Given the description of an element on the screen output the (x, y) to click on. 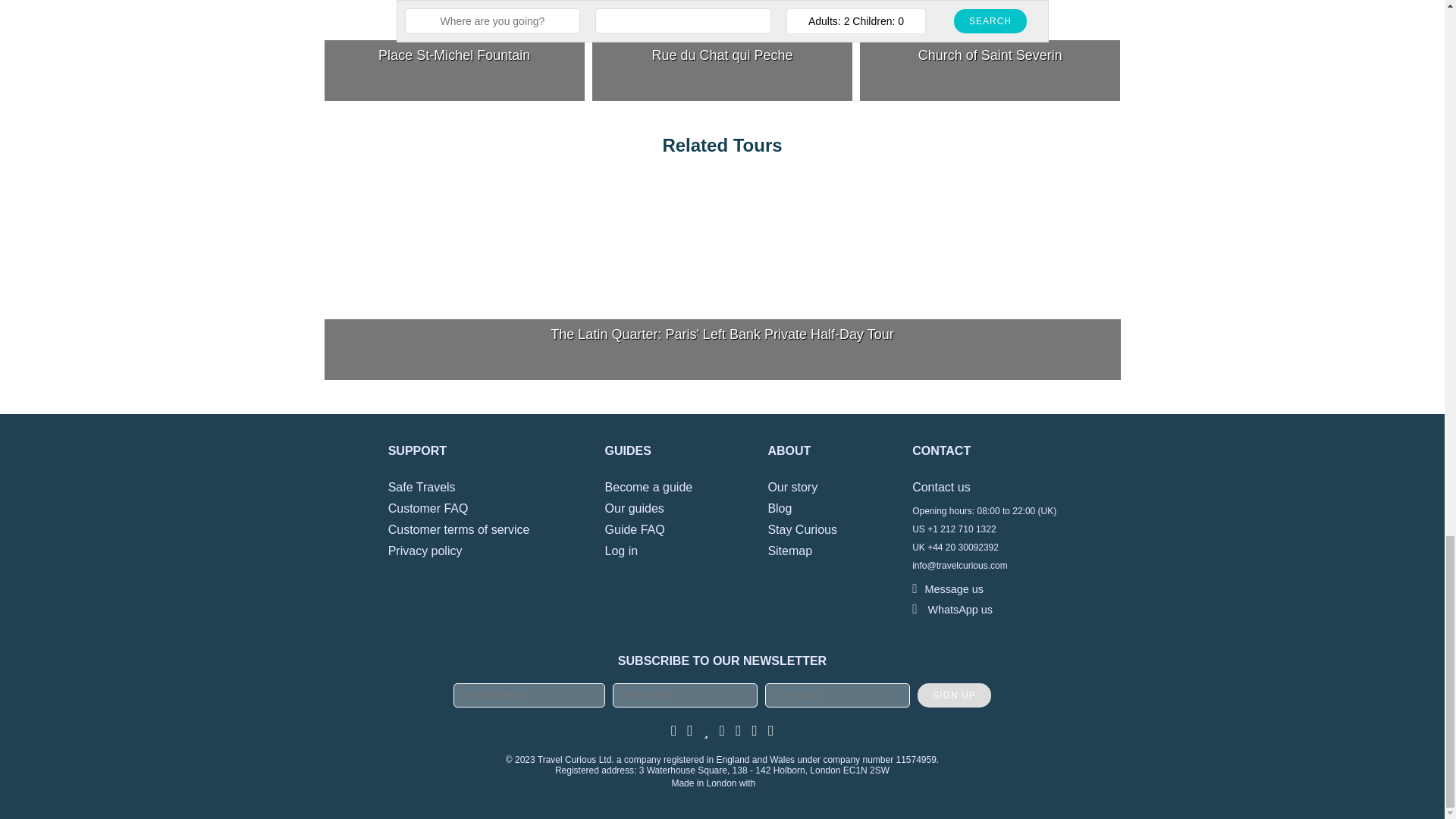
Our guides (634, 508)
Become a guide (649, 486)
Safe Travels (421, 486)
Guide FAQ (635, 529)
Privacy policy (425, 550)
Place St-Michel Fountain (454, 50)
Church of Saint Severin (989, 50)
Customer FAQ (428, 508)
Rue du Chat qui Peche (721, 50)
